Given the description of an element on the screen output the (x, y) to click on. 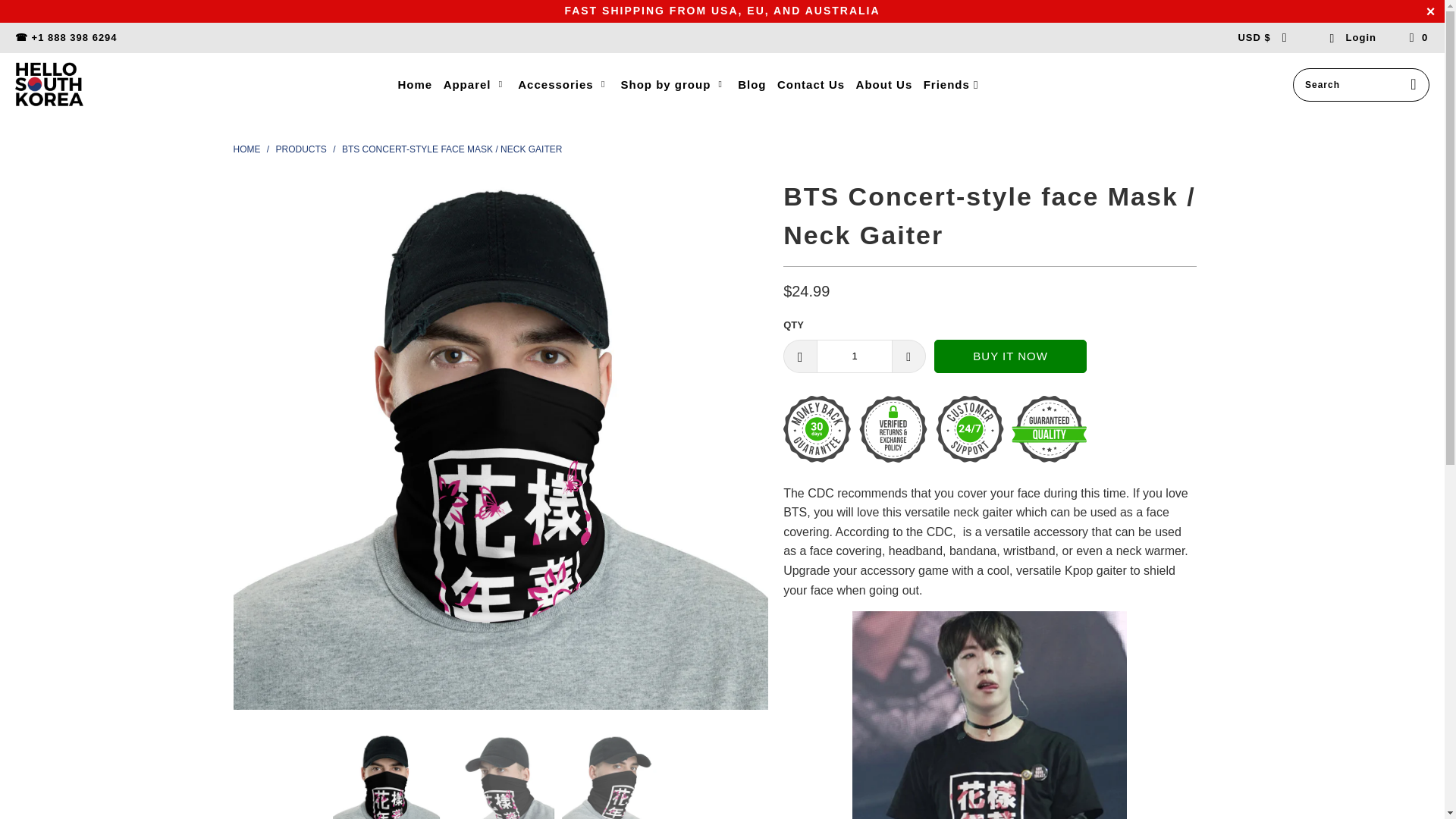
Products (301, 149)
1 (854, 356)
Hello South Korea (48, 84)
Hello South Korea (246, 149)
My Account  (1352, 37)
